Given the description of an element on the screen output the (x, y) to click on. 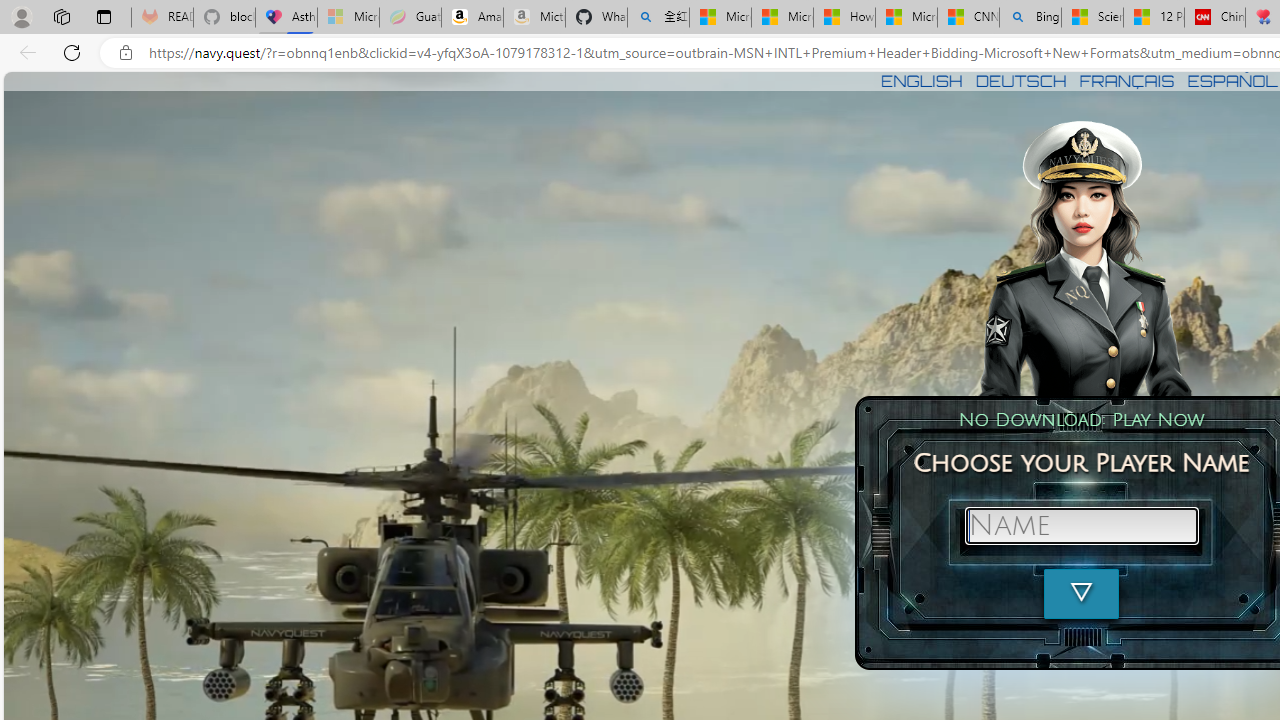
Name (1081, 525)
CNN - MSN (968, 17)
